Given the description of an element on the screen output the (x, y) to click on. 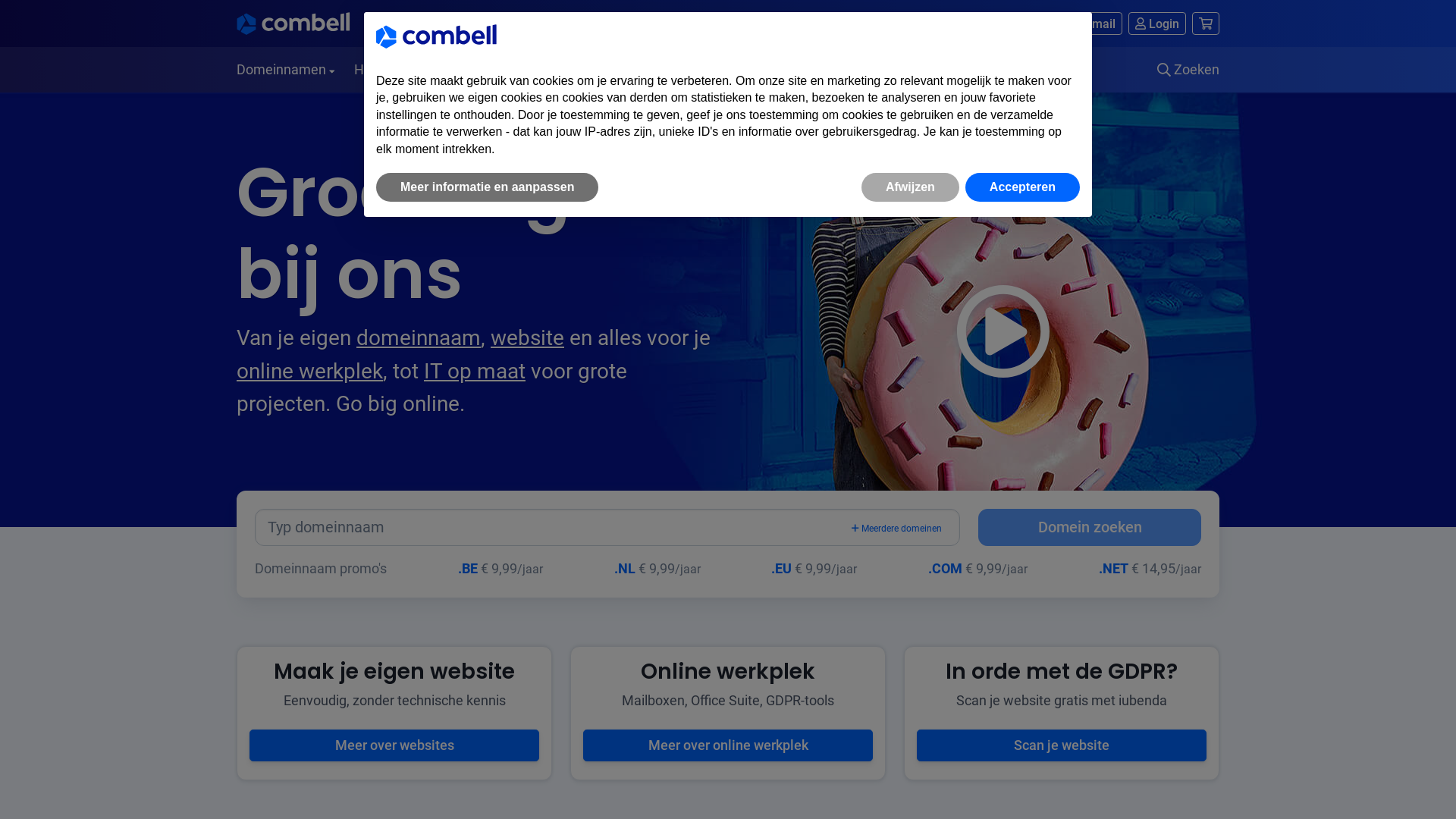
Login Element type: text (1157, 23)
24/7 Support Element type: text (975, 23)
Scan je website Element type: text (1061, 745)
Hosting en Webhosting bij Combell Element type: hover (293, 23)
Meer informatie en aanpassen Element type: text (487, 186)
Domeinnaam promo's Element type: text (320, 568)
Afwijzen Element type: text (910, 186)
Accepteren Element type: text (1022, 186)
Meerdere domeinen Element type: text (896, 527)
Meer over websites Element type: text (394, 745)
E-mail Element type: text (588, 69)
online werkplek Element type: text (309, 370)
Domeinnamen Element type: text (290, 69)
Managed Services Element type: text (826, 69)
Webmail Element type: text (1082, 23)
Zoeken Element type: text (1183, 69)
Partners Element type: text (936, 69)
Tools Element type: text (651, 69)
Meer over online werkplek Element type: text (727, 745)
Websites & Shops Element type: text (487, 69)
Grote onderneming Element type: text (850, 23)
Servers Element type: text (719, 69)
Domein zoeken Element type: text (1089, 527)
Starter Element type: text (704, 23)
IT op maat Element type: text (474, 370)
Hosting Element type: text (381, 69)
website Element type: text (527, 337)
KMO Element type: text (760, 23)
domeinnaam Element type: text (418, 337)
